Given the description of an element on the screen output the (x, y) to click on. 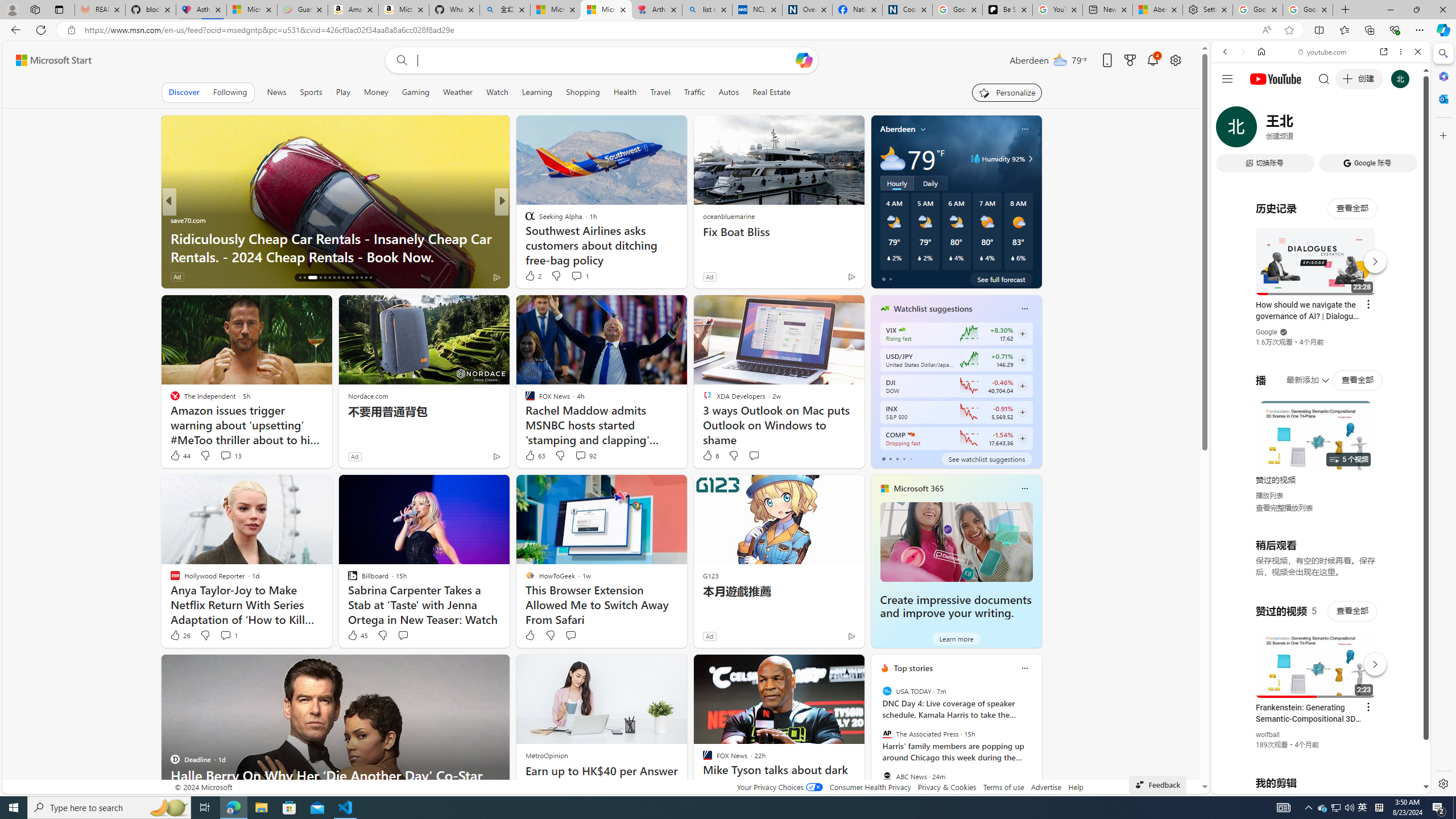
Humidity 92% (1028, 158)
View comments 31 Comment (585, 276)
View comments 13 Comment (225, 455)
#you (1315, 659)
Search the web (1326, 78)
US[ju] (1249, 785)
View comments 3 Comment (580, 276)
